Given the description of an element on the screen output the (x, y) to click on. 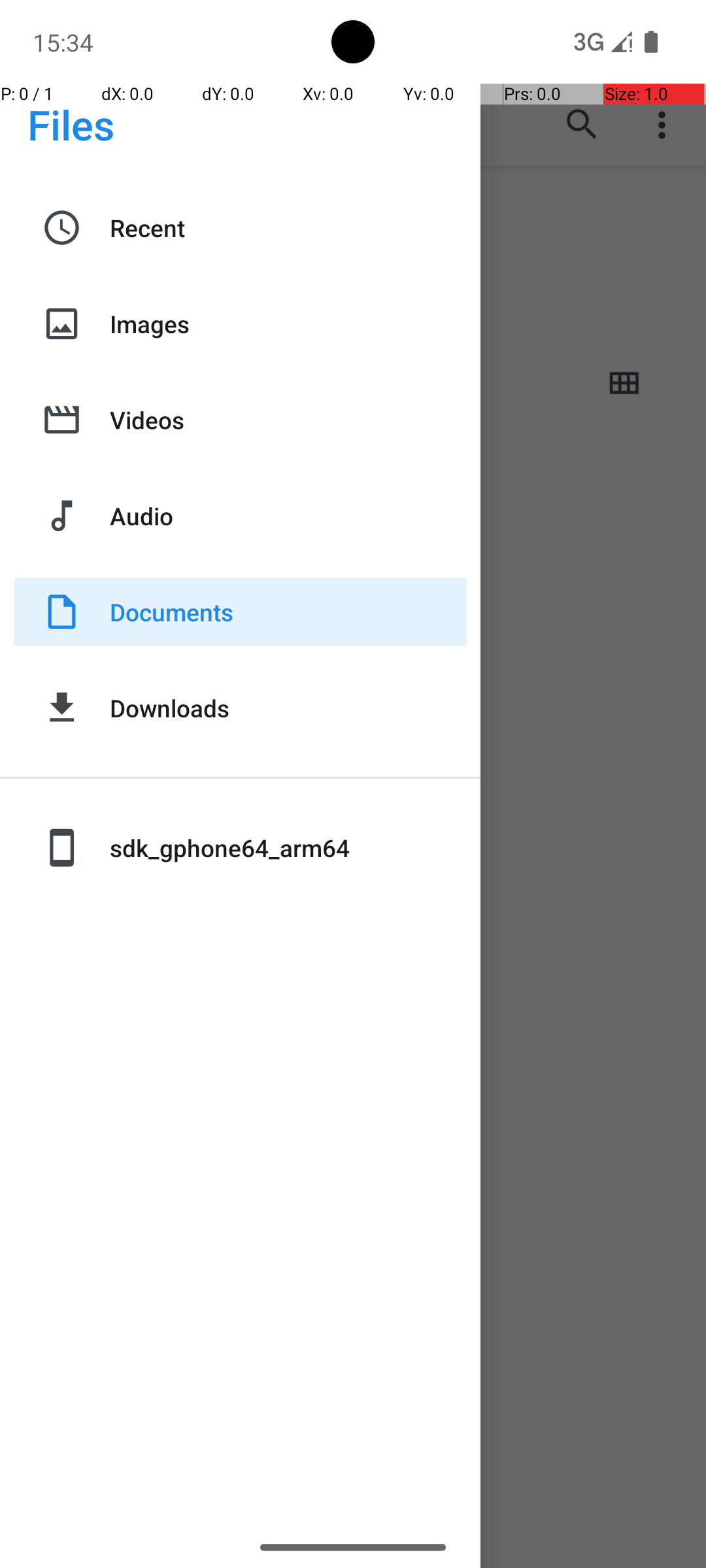
Files Element type: android.widget.TextView (70, 124)
Images Element type: android.widget.TextView (287, 323)
Videos Element type: android.widget.TextView (287, 419)
Audio Element type: android.widget.TextView (287, 515)
Documents Element type: android.widget.TextView (287, 611)
Downloads Element type: android.widget.TextView (287, 707)
sdk_gphone64_arm64 Element type: android.widget.TextView (287, 847)
